Given the description of an element on the screen output the (x, y) to click on. 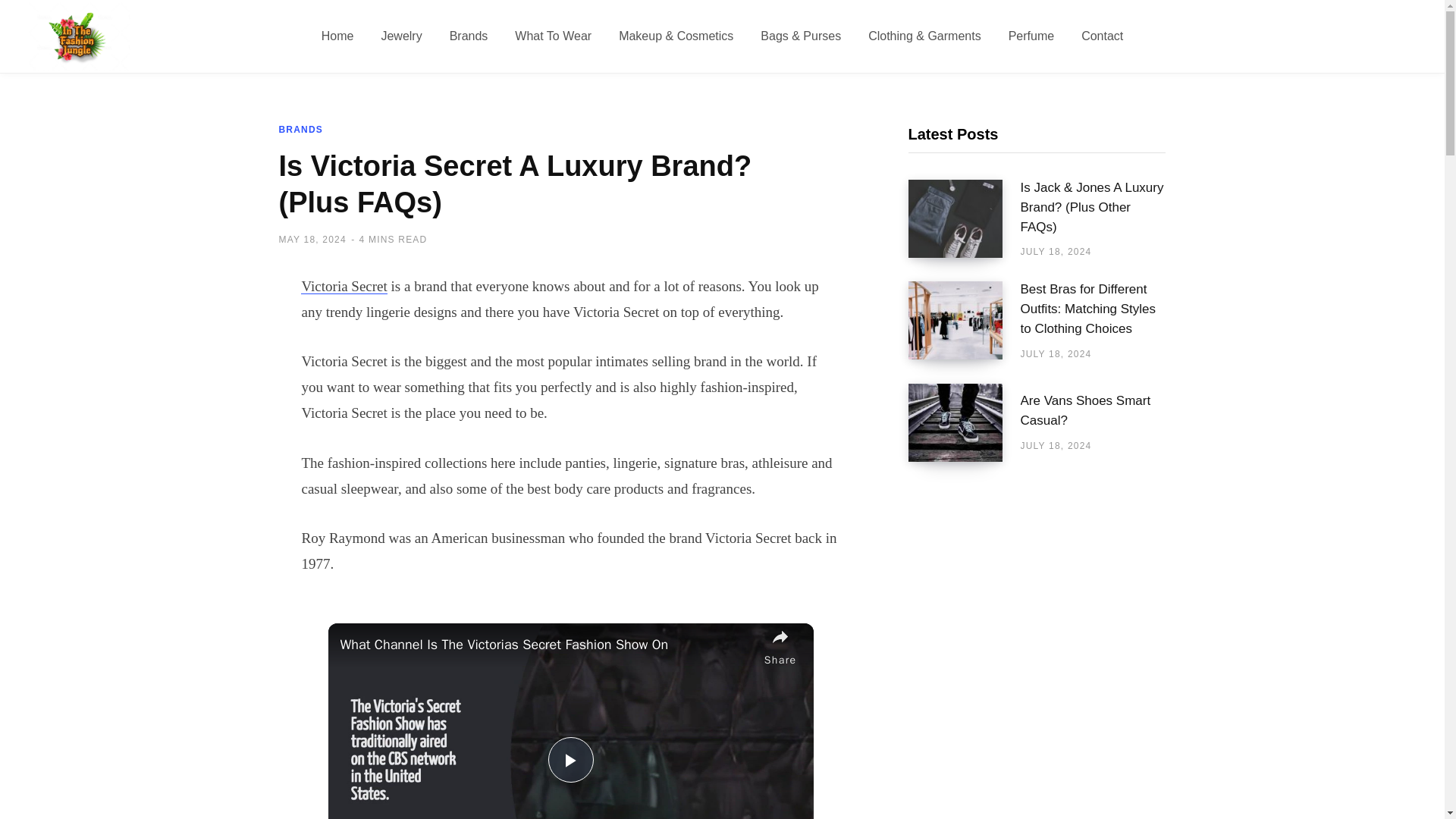
In The Fashion Jungle (80, 36)
MAY 18, 2024 (312, 239)
Victoria Secret (344, 286)
Play Video (569, 759)
Play Video (569, 759)
What To Wear (552, 36)
What Channel Is The Victorias Secret Fashion Show On (547, 644)
Jewelry (400, 36)
Perfume (1030, 36)
Brands (468, 36)
BRANDS (301, 129)
Contact (1102, 36)
